Given the description of an element on the screen output the (x, y) to click on. 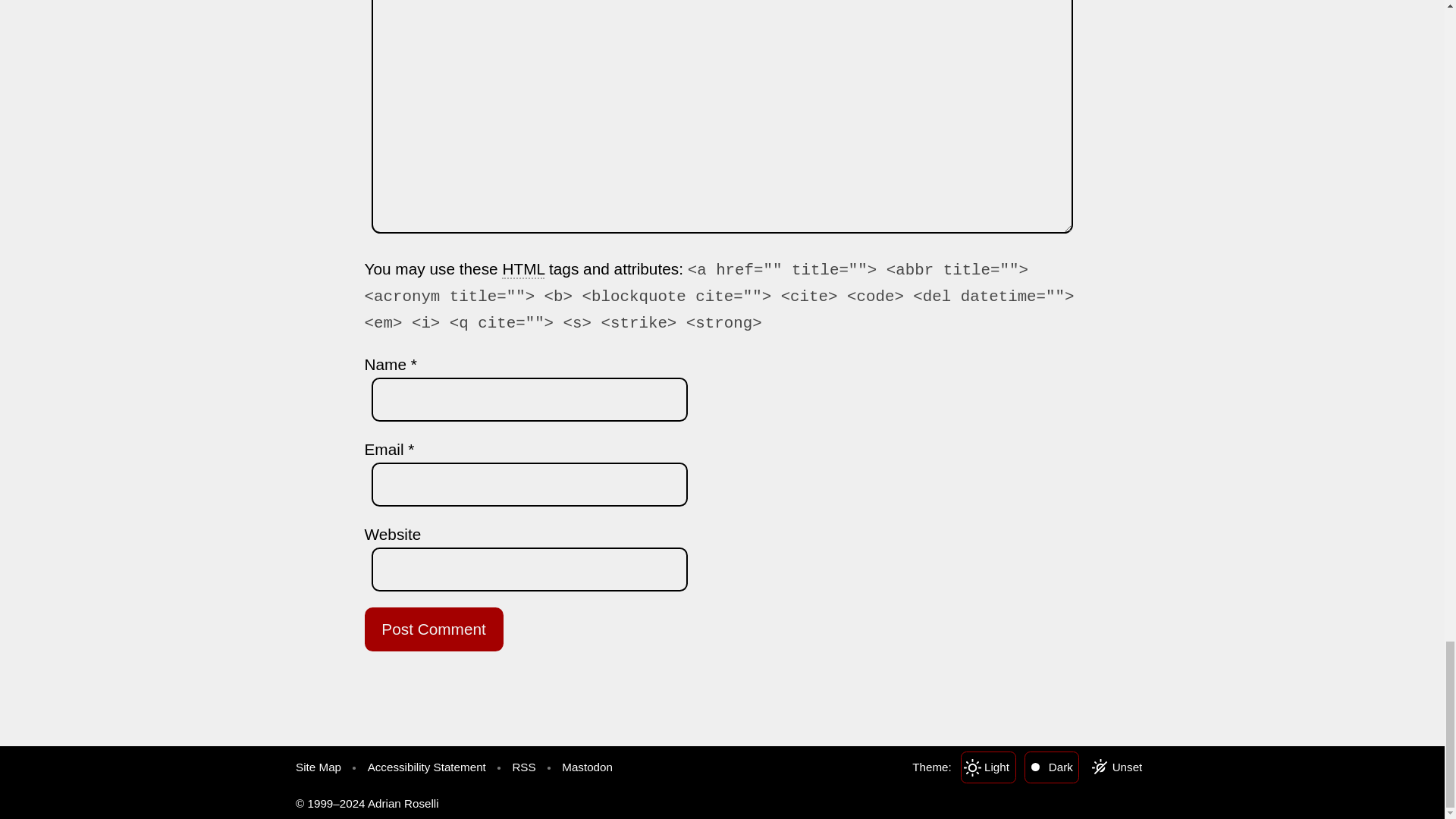
Site Map (317, 767)
Post Comment (433, 629)
HyperText Markup Language (523, 269)
Post Comment (433, 629)
